Given the description of an element on the screen output the (x, y) to click on. 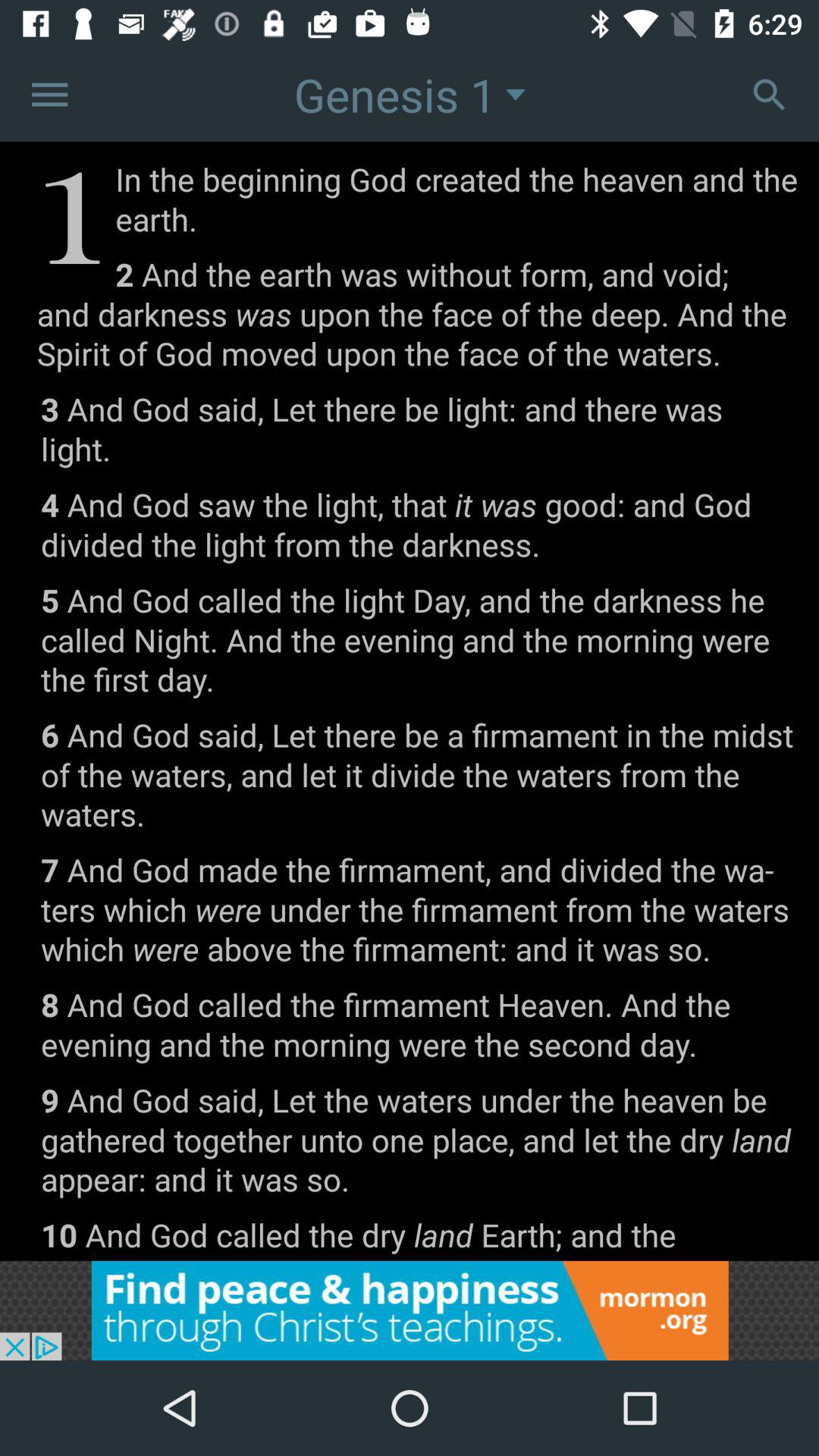
select the search (769, 94)
